Given the description of an element on the screen output the (x, y) to click on. 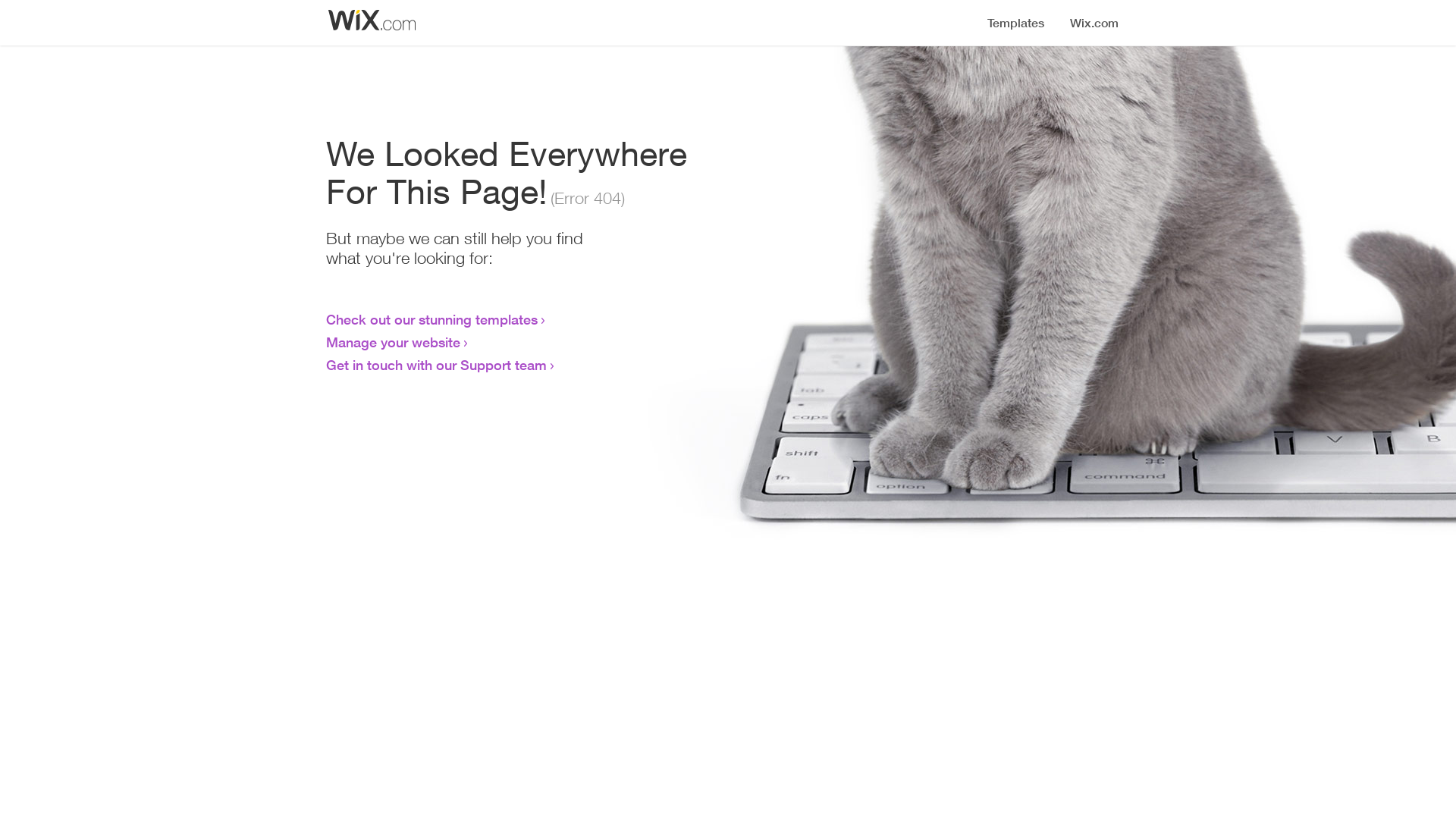
Manage your website Element type: text (393, 341)
Get in touch with our Support team Element type: text (436, 364)
Check out our stunning templates Element type: text (431, 318)
